Given the description of an element on the screen output the (x, y) to click on. 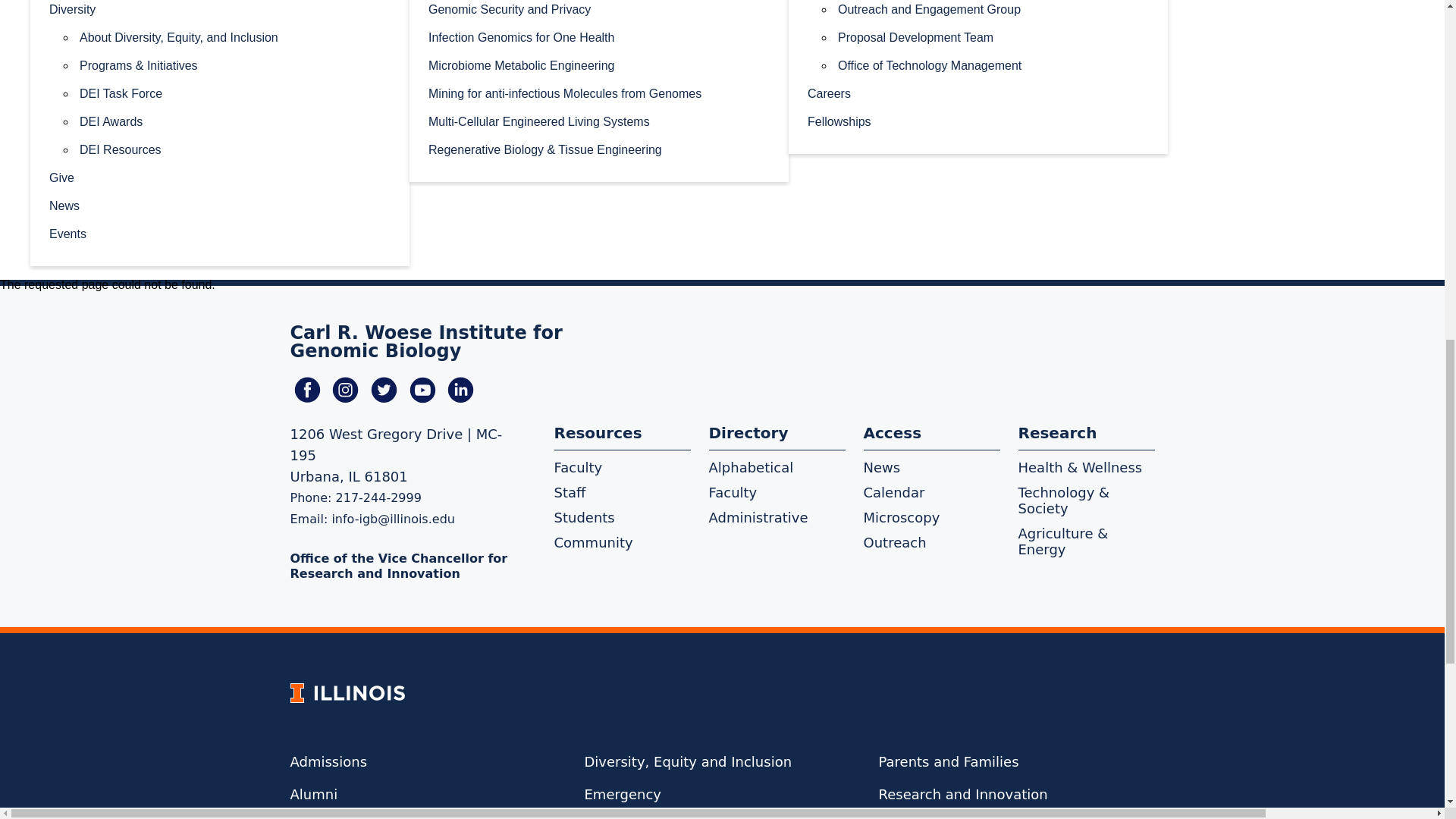
DEI Awards (234, 121)
DEI Task Force (234, 92)
Diversity (219, 11)
About Diversity, Equity, and Inclusion (234, 36)
DEI Awards (234, 121)
Mining for anti-infectious Molecules from Genomes (599, 92)
Events (219, 233)
Give (219, 176)
Give (219, 176)
Events (219, 233)
DEI Resources (234, 148)
Diversity (219, 11)
Microbiome Metabolic Engineering (599, 64)
News (219, 204)
Multi-Cellular Engineered Living Systems (599, 121)
